Given the description of an element on the screen output the (x, y) to click on. 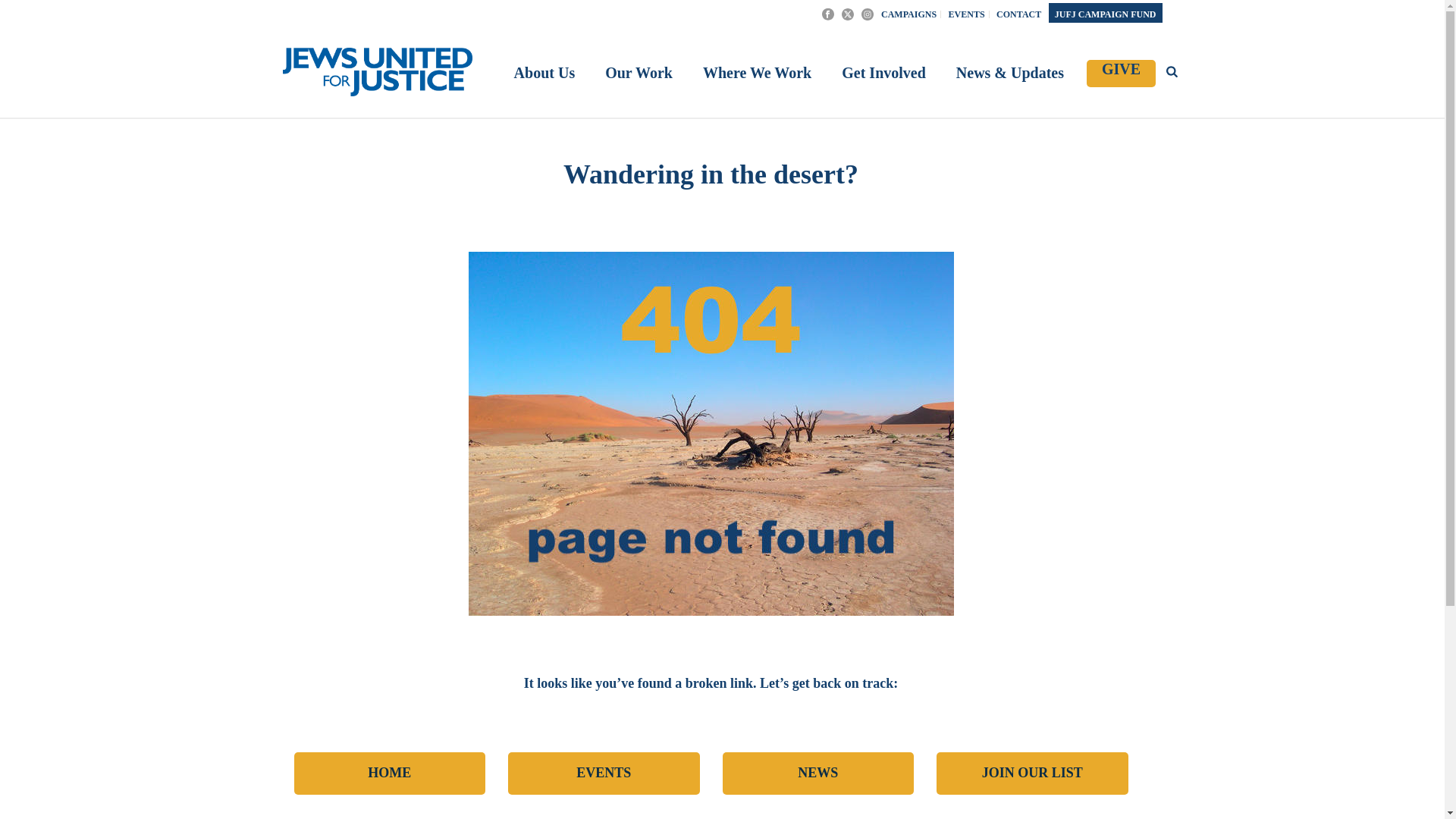
JOIN OUR LIST (1032, 773)
About Us (545, 73)
CONTACT (1018, 14)
Get Involved (883, 73)
Where We Work (757, 73)
Our Work (638, 73)
EVENTS (604, 773)
HOME (390, 773)
Think Jewishly. Act Locally. (376, 71)
